Given the description of an element on the screen output the (x, y) to click on. 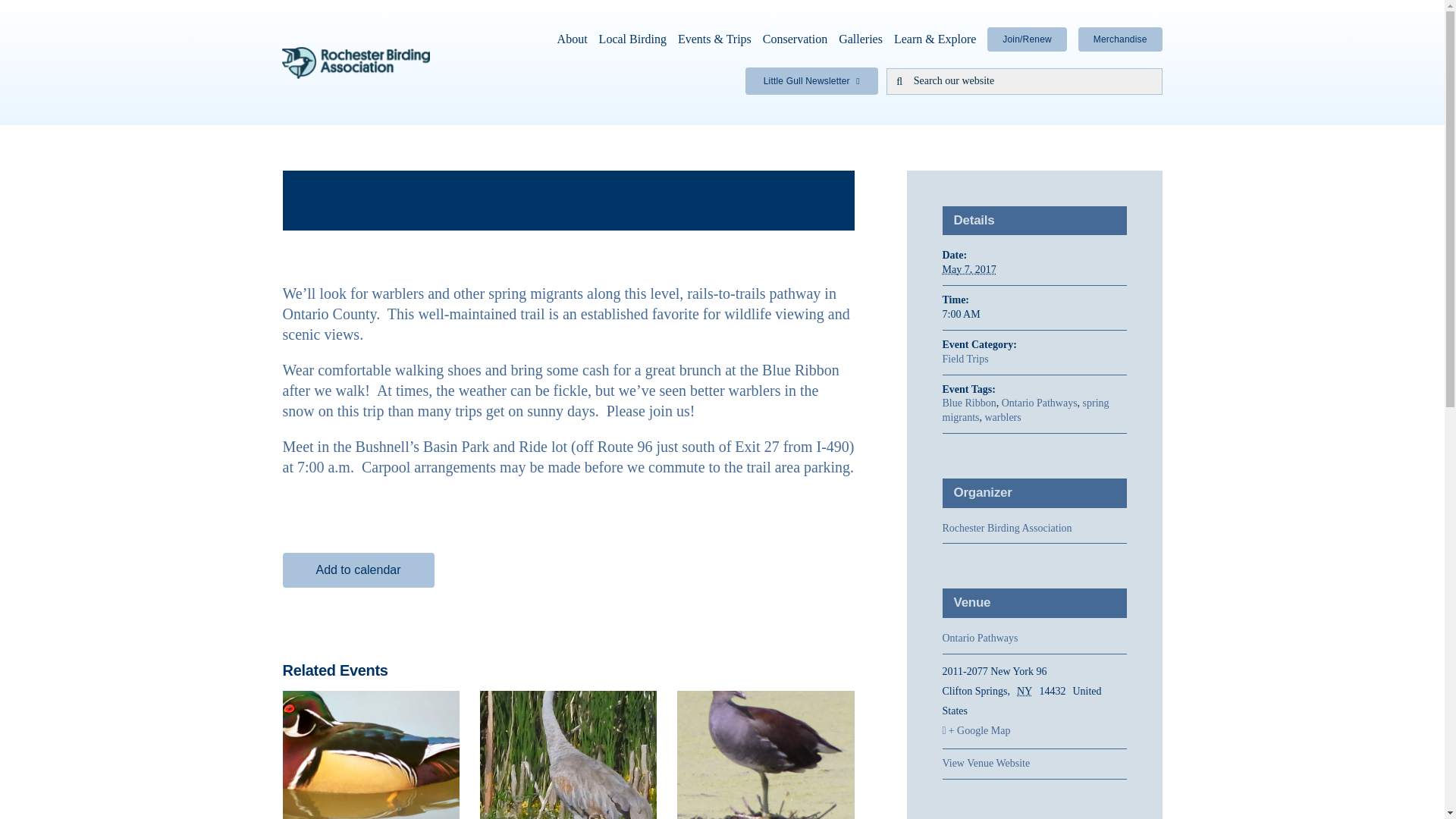
Click to view a Google Map (1034, 731)
2017-05-07 (968, 269)
New York (1026, 690)
2017-05-07 (1034, 314)
Rochester Birding Association (1006, 527)
Local Birding (632, 39)
About (572, 39)
